Given the description of an element on the screen output the (x, y) to click on. 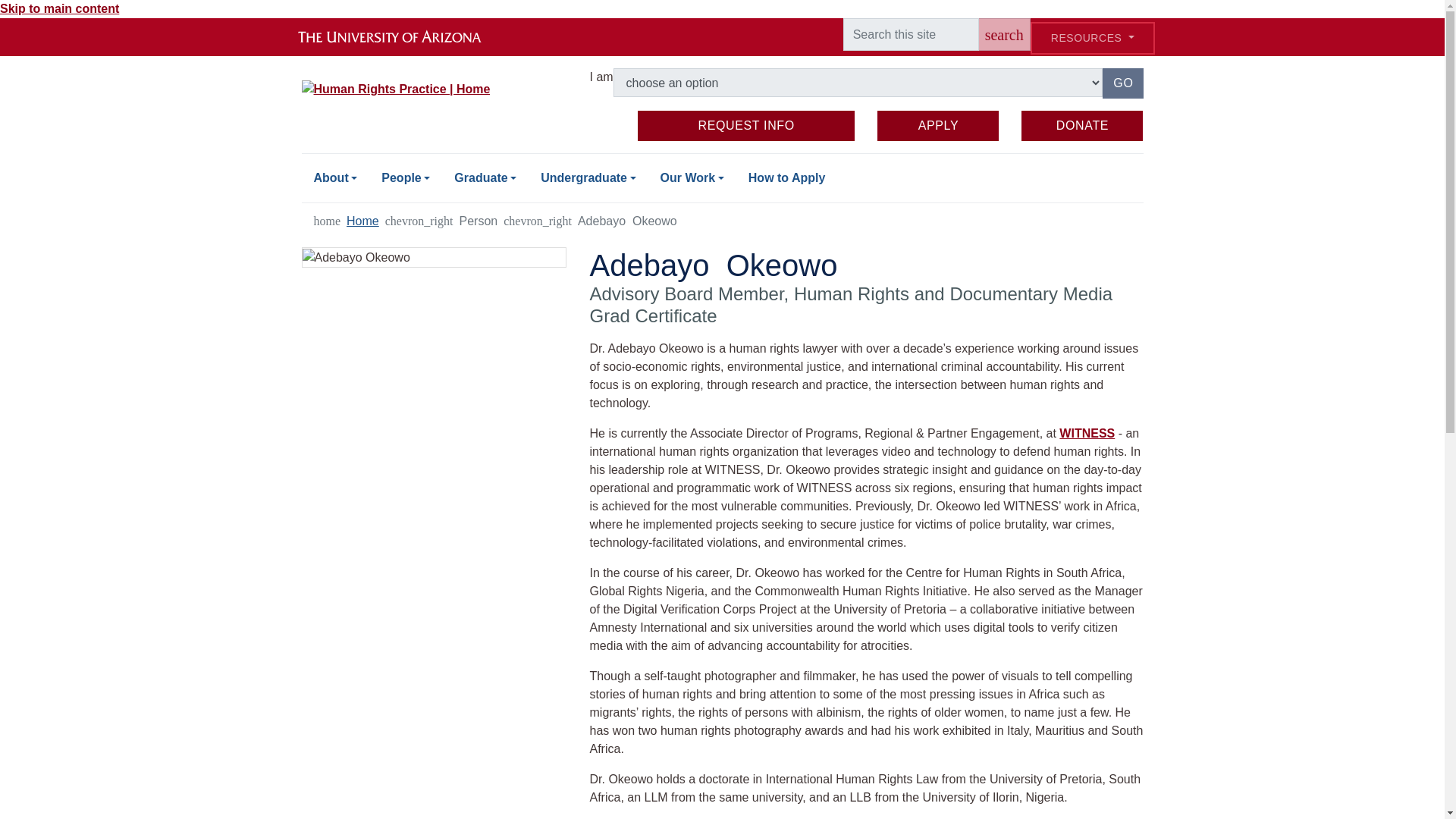
People (405, 177)
Request Information about Graduate Programs (746, 125)
DONATE (1082, 125)
The University of Arizona homepage (401, 37)
About (335, 177)
Enter the terms you wish to search for. (910, 34)
RESOURCES (1092, 38)
APPLY (937, 125)
search (1122, 82)
REQUEST INFO (1004, 34)
Graduate (746, 125)
Skip to main content (485, 177)
